Given the description of an element on the screen output the (x, y) to click on. 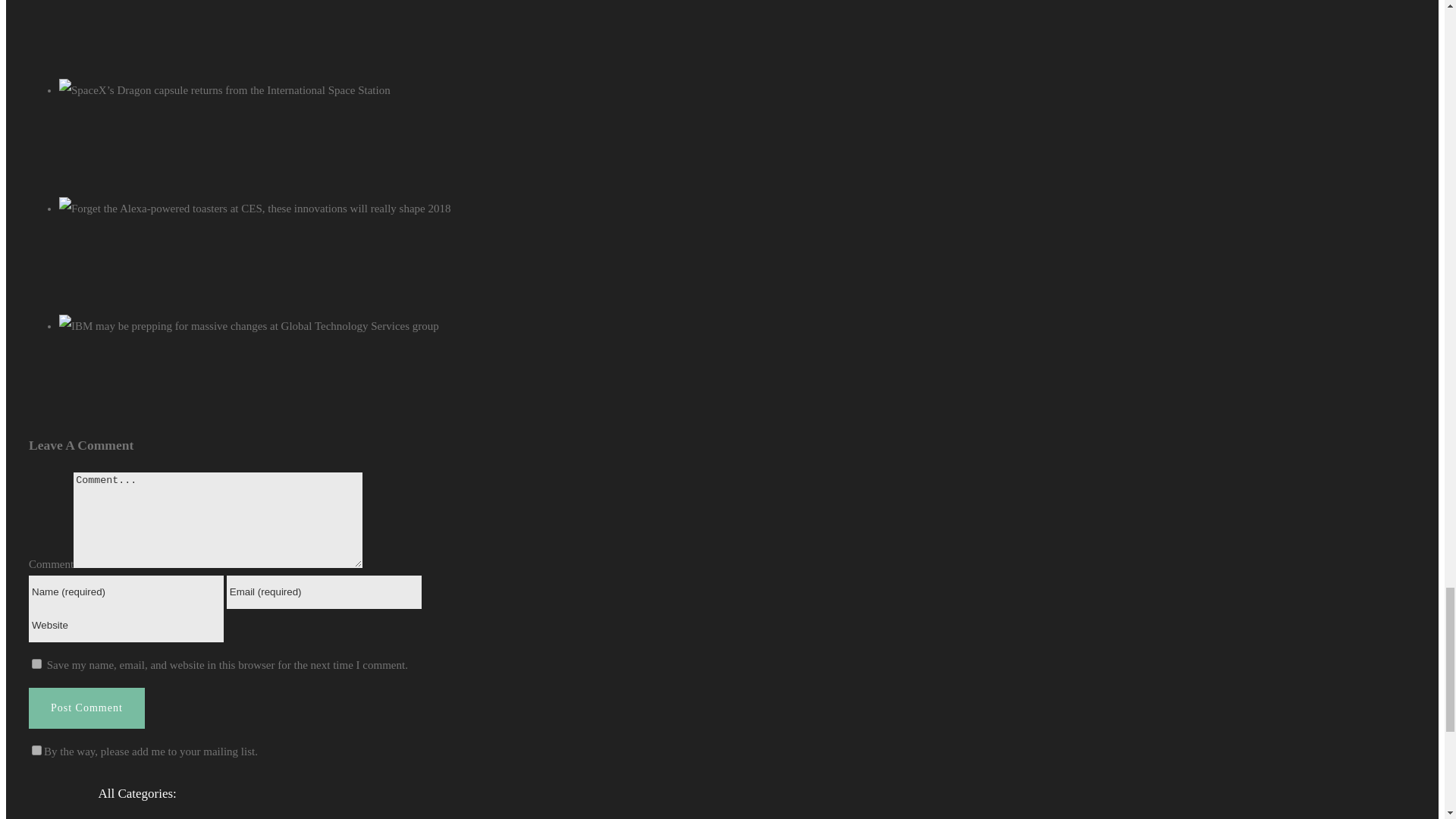
yes (37, 664)
Post Comment (86, 707)
1 (37, 750)
